Given the description of an element on the screen output the (x, y) to click on. 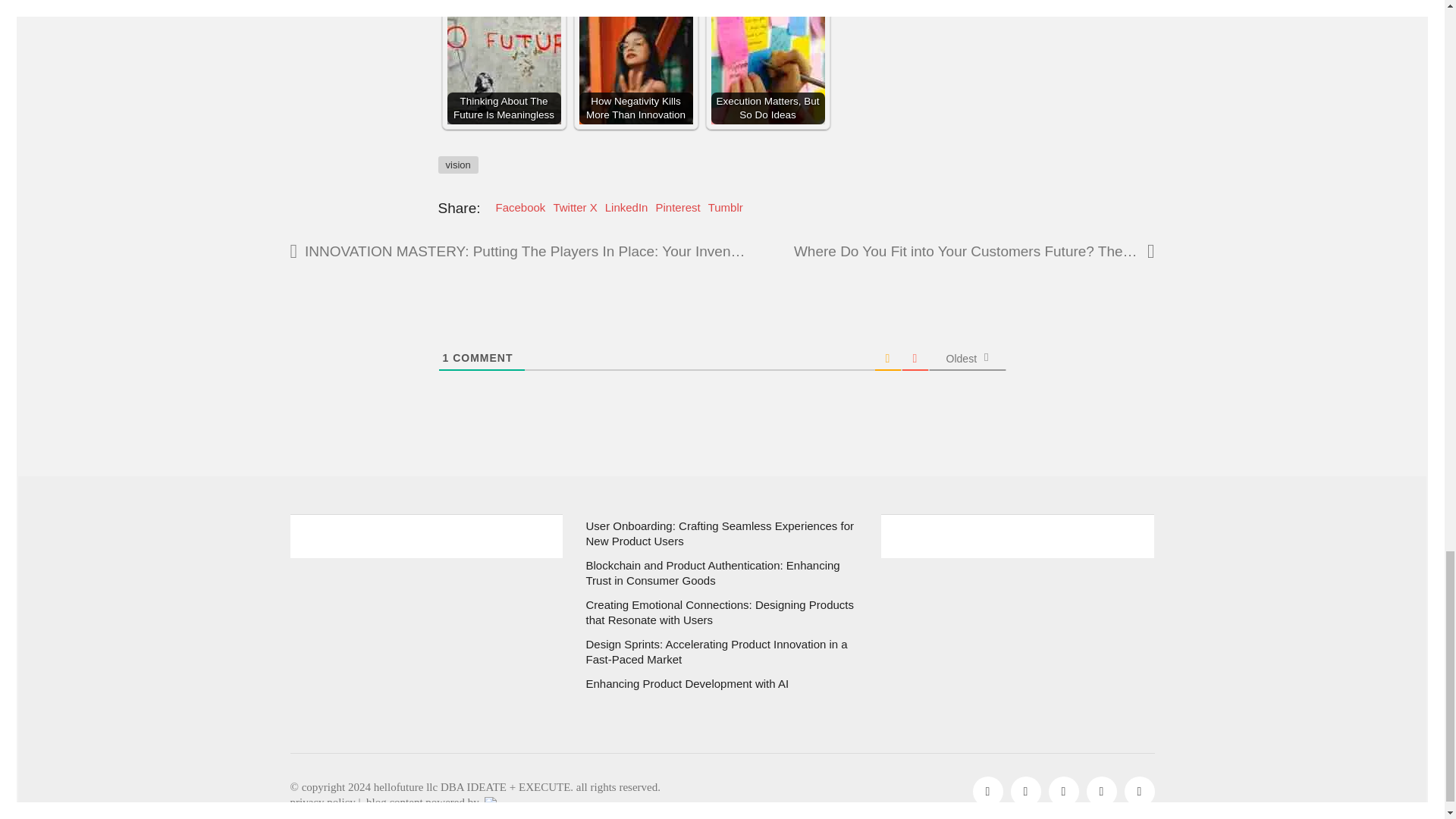
Execution Matters, But So Do Ideas (768, 67)
Form 1 (425, 622)
Facebook (987, 791)
LinkedIn (1025, 791)
How Negativity Kills More Than Innovation (636, 67)
Form 2 (1017, 622)
Thinking About The Future Is Meaningless (503, 67)
Twitter X (1063, 791)
